Given the description of an element on the screen output the (x, y) to click on. 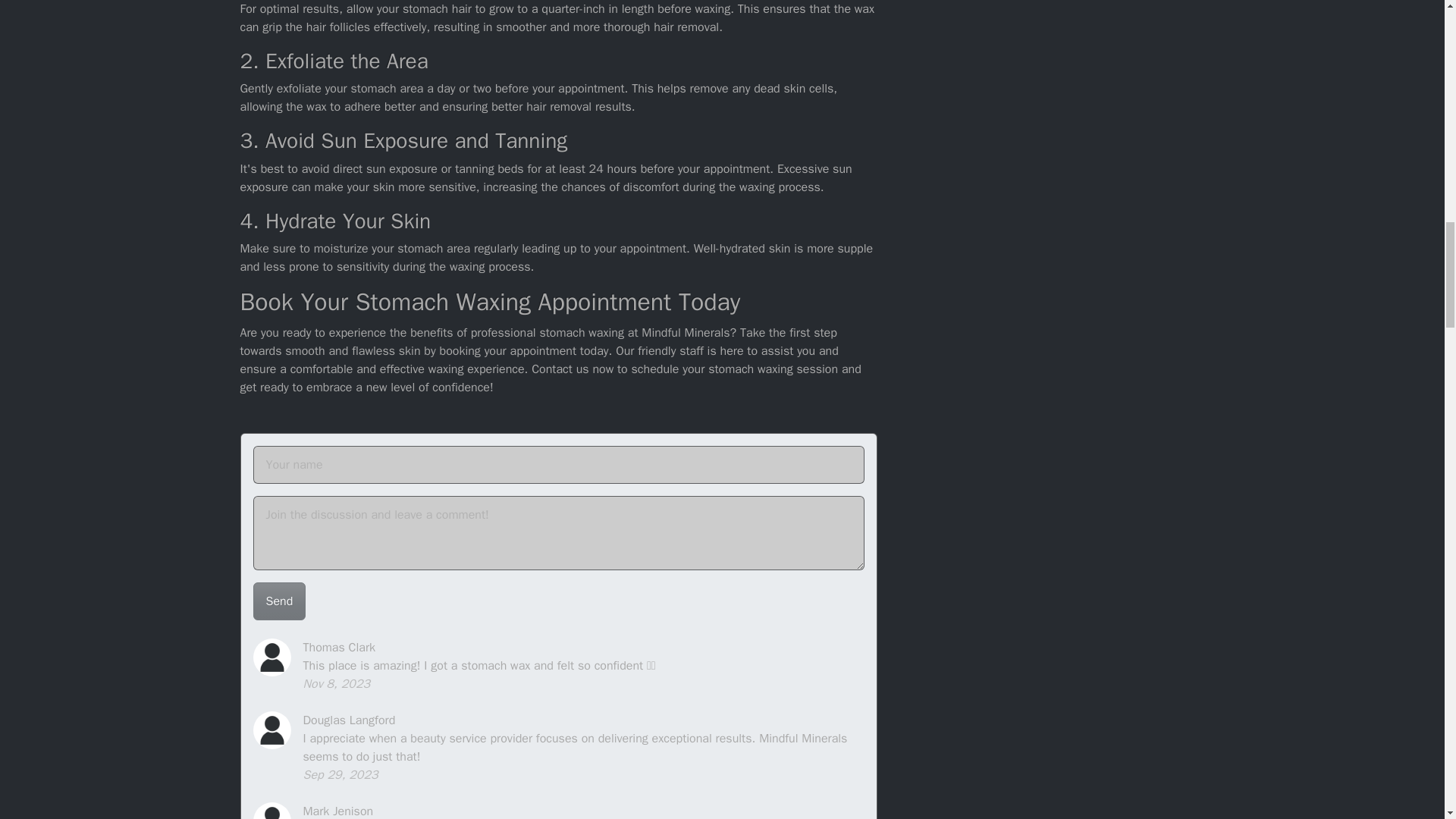
Send (279, 600)
Send (279, 600)
